Given the description of an element on the screen output the (x, y) to click on. 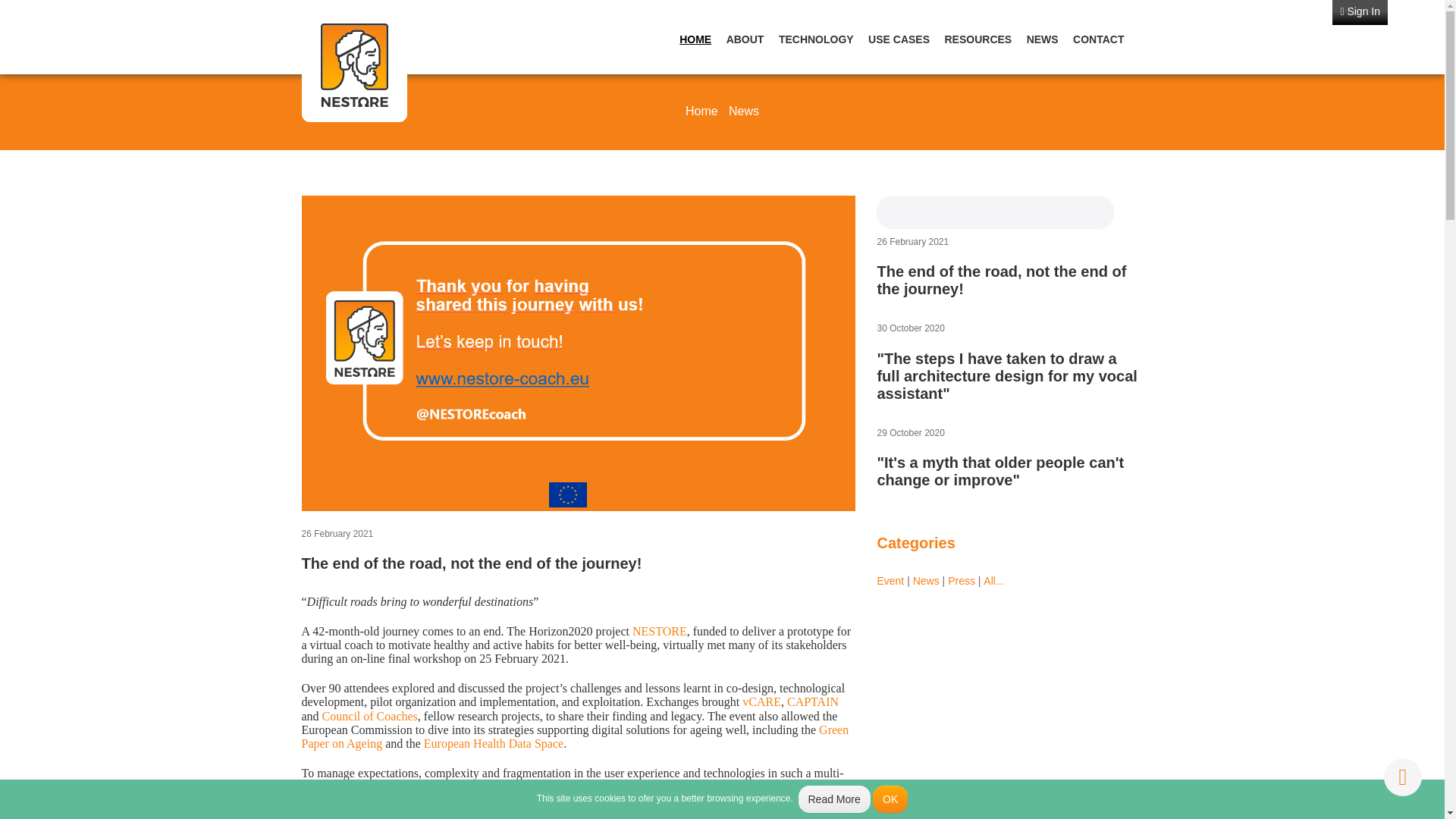
Skip to Content (41, 6)
Go to Nestore (354, 65)
NESTORE (659, 631)
RESOURCES (983, 39)
Home (701, 110)
NEWS (1048, 39)
OK (889, 799)
Sign In (1359, 12)
Cookie Policy for NESTORE (833, 799)
Council of Coaches (369, 716)
